Given the description of an element on the screen output the (x, y) to click on. 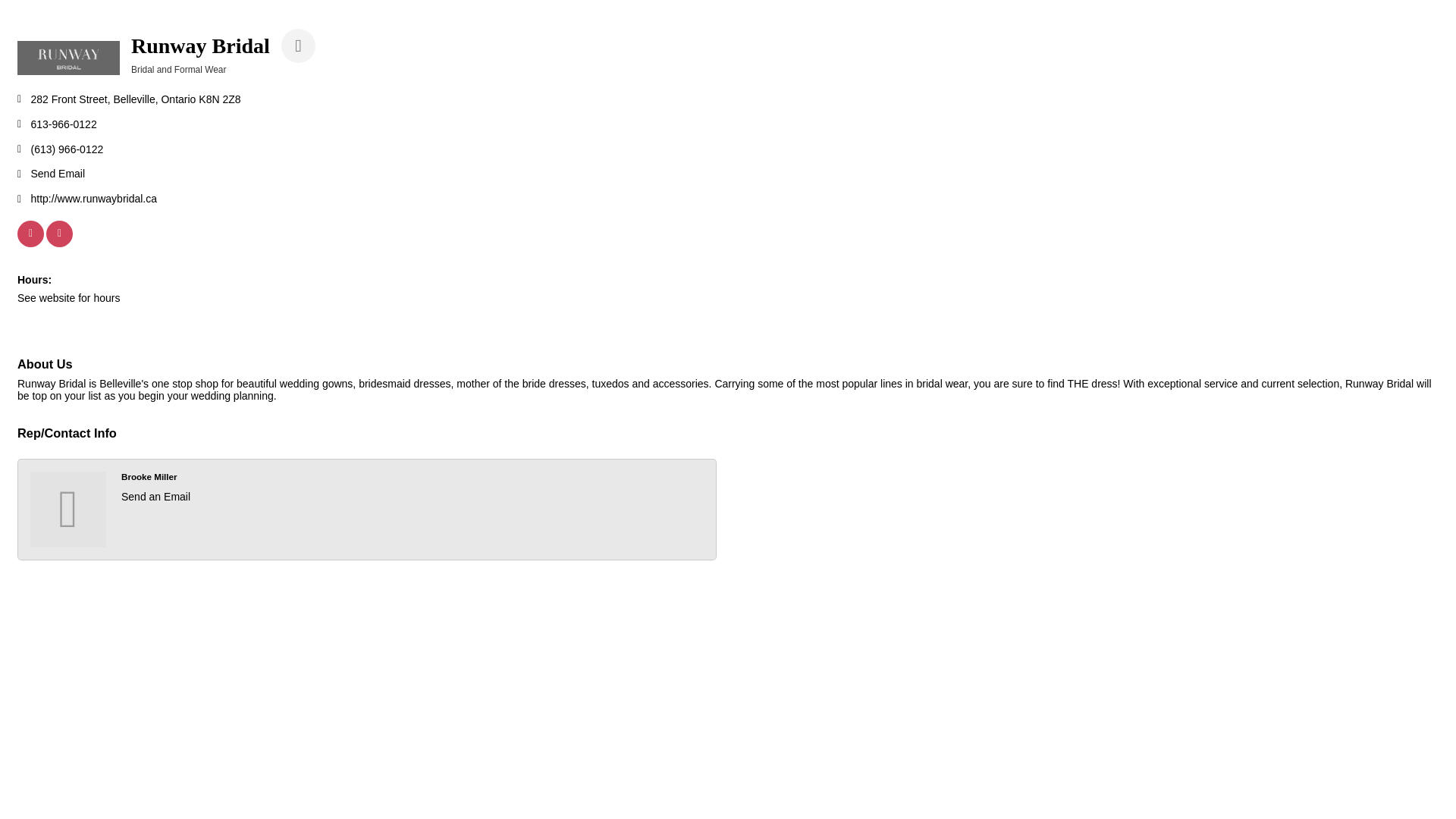
View on Instagram Element type: hover (59, 243)
Runway Bridal Element type: hover (68, 57)
(613) 966-0122 Element type: text (66, 149)
http://www.runwaybridal.ca Element type: text (93, 198)
282 Front Street Belleville Ontario K8N 2Z8 Element type: text (135, 99)
Send Email Element type: text (57, 173)
613-966-0122 Element type: text (63, 124)
View on Facebook Element type: hover (30, 243)
Send an Email Element type: text (155, 496)
